Given the description of an element on the screen output the (x, y) to click on. 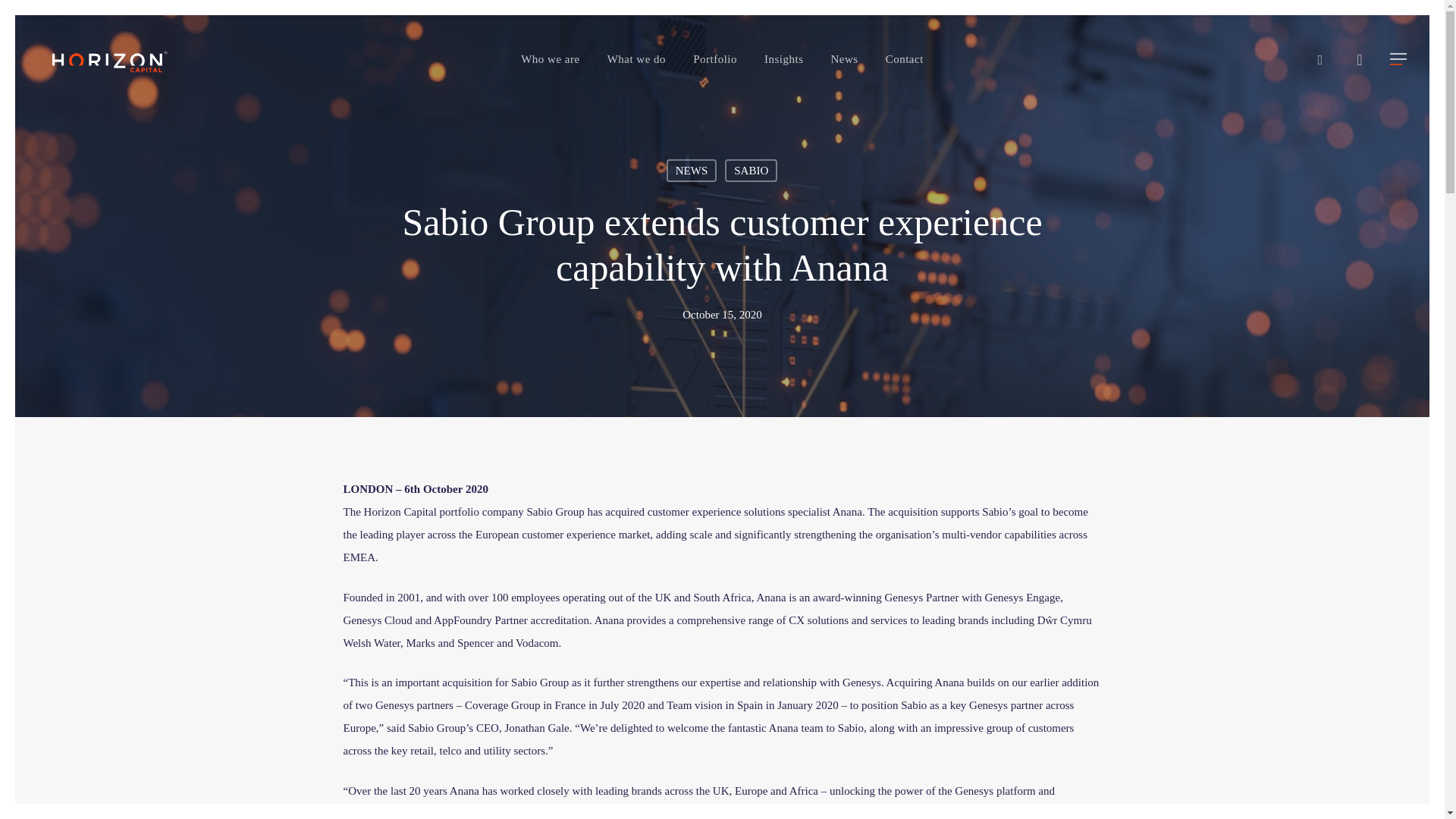
Who we are (549, 58)
What we do (636, 58)
Portfolio (715, 58)
